Given the description of an element on the screen output the (x, y) to click on. 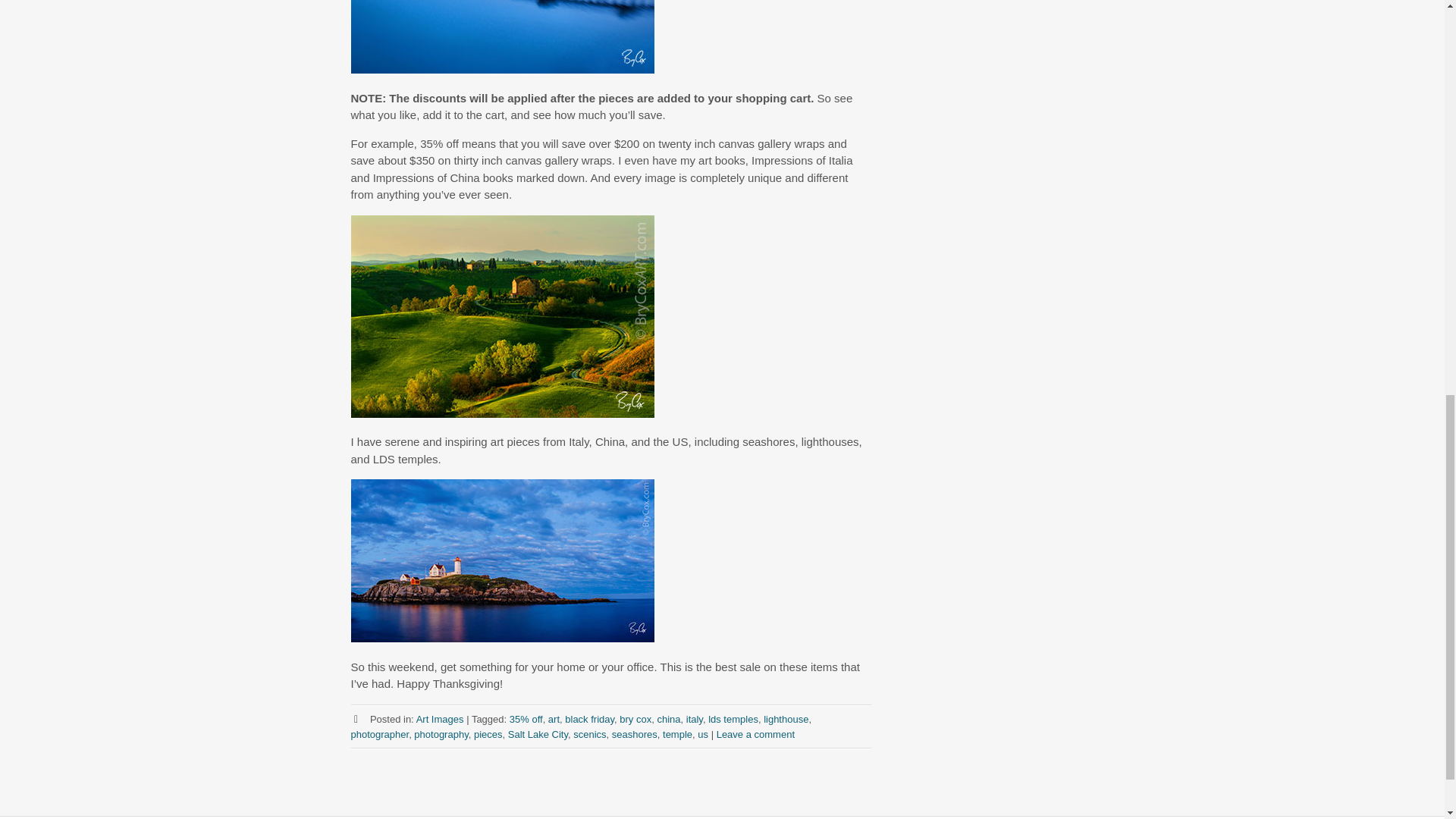
lighthouse (785, 717)
pieces (488, 733)
Serene Dock Home at Twilight (501, 36)
Leave a comment (755, 733)
lds temples (732, 717)
seashores (634, 733)
china (667, 717)
BryCoxART.com (501, 637)
photographer (379, 733)
Art Images (440, 717)
